Given the description of an element on the screen output the (x, y) to click on. 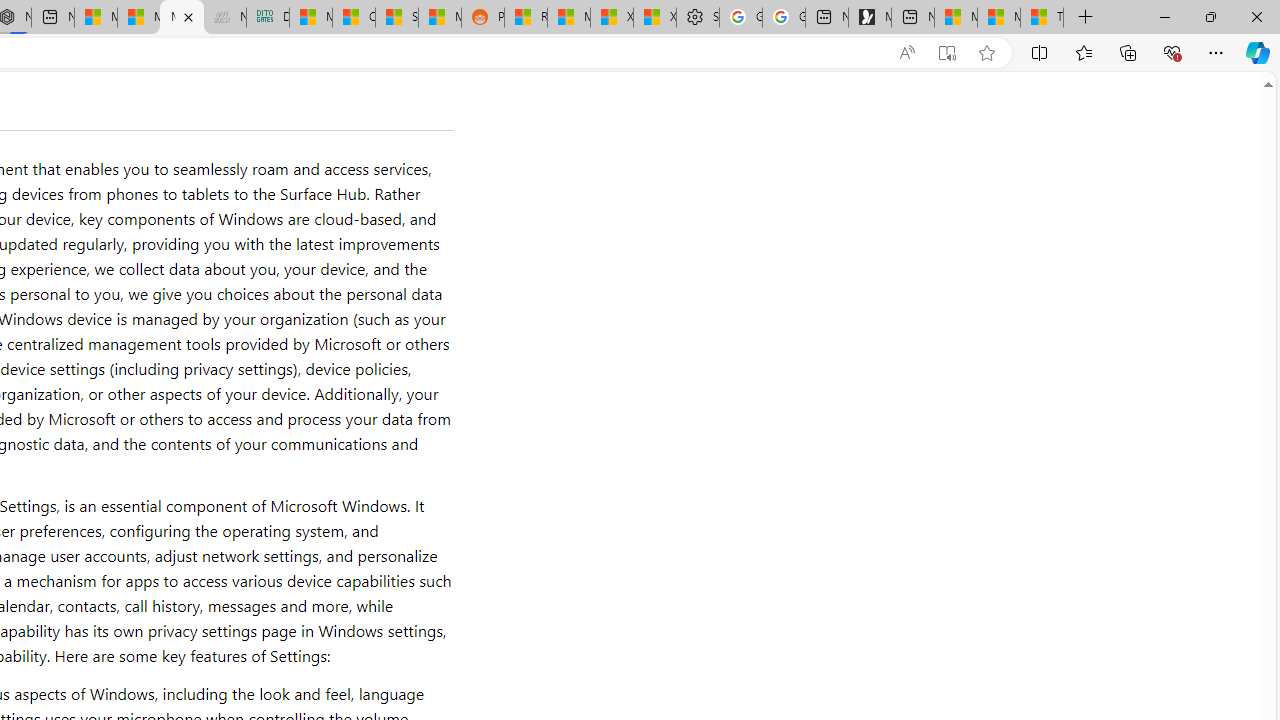
These 3 Stocks Pay You More Than 5% to Own Them (1042, 17)
DITOGAMES AG Imprint (268, 17)
Navy Quest (224, 17)
Stocks - MSN (397, 17)
MSNBC - MSN (310, 17)
